Given the description of an element on the screen output the (x, y) to click on. 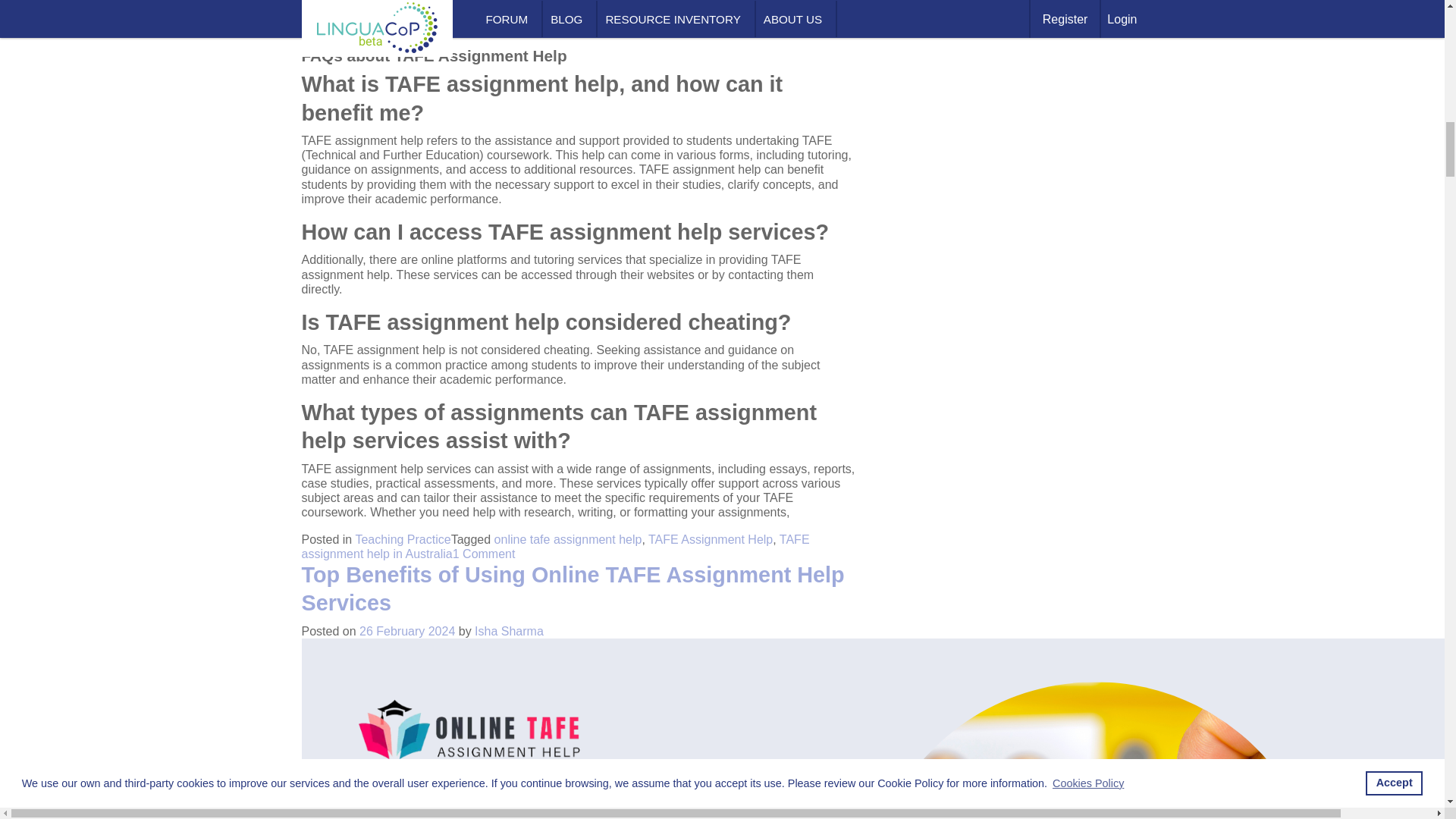
online tafe assignment help (568, 539)
26 February 2024 (406, 631)
TAFE Assignment Help (710, 539)
Teaching Practice (402, 539)
Top Benefits of Using Online TAFE Assignment Help Services (572, 588)
TAFE assignment help in Australia (555, 546)
Isha Sharma (508, 631)
